Given the description of an element on the screen output the (x, y) to click on. 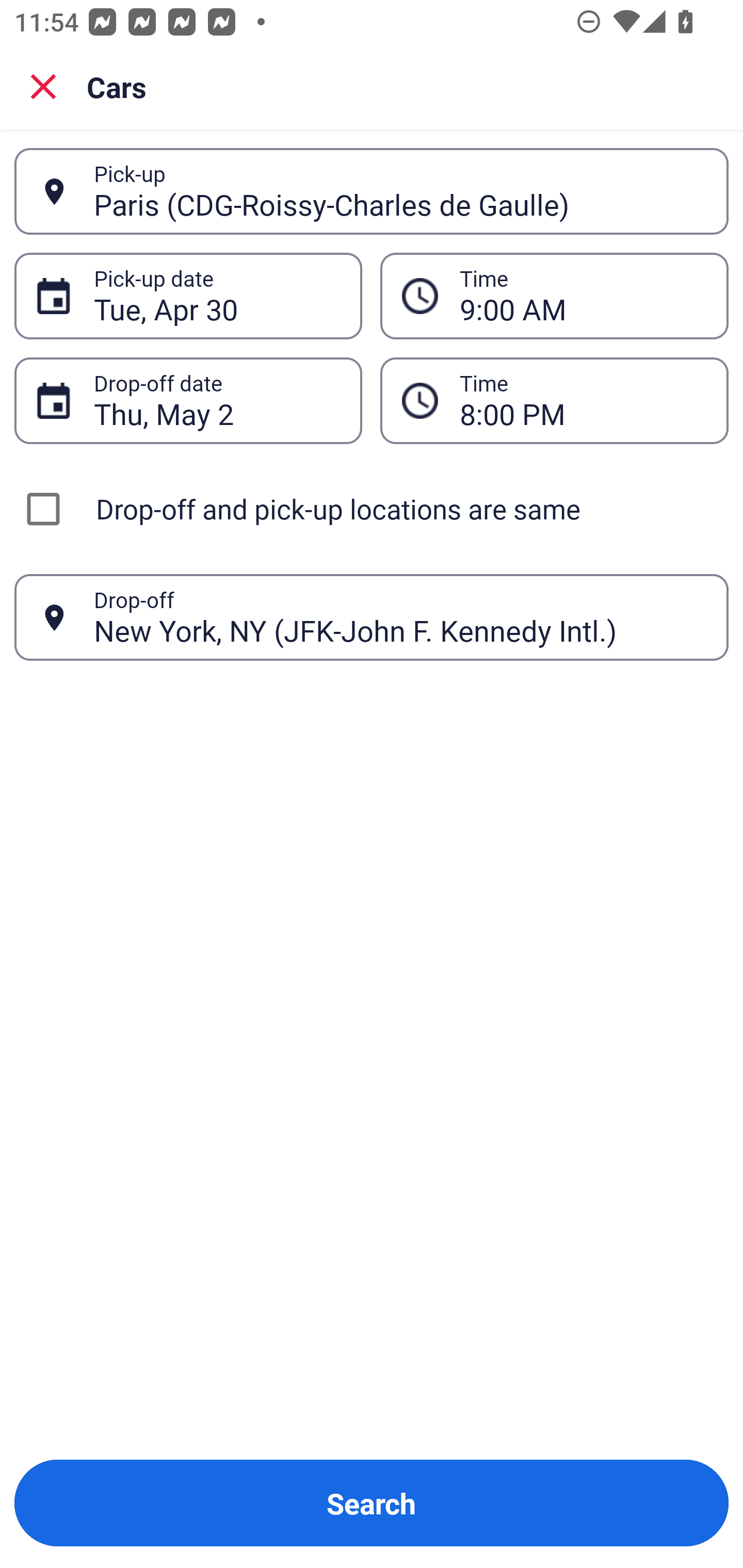
Close search screen (43, 86)
Paris (CDG-Roissy-Charles de Gaulle) Pick-up (371, 191)
Paris (CDG-Roissy-Charles de Gaulle) (399, 191)
Tue, Apr 30 Pick-up date (188, 295)
9:00 AM (554, 295)
Tue, Apr 30 (216, 296)
9:00 AM (582, 296)
Thu, May 2 Drop-off date (188, 400)
8:00 PM (554, 400)
Thu, May 2 (216, 400)
8:00 PM (582, 400)
Drop-off and pick-up locations are same (371, 508)
New York, NY (JFK-John F. Kennedy Intl.) Drop-off (371, 616)
New York, NY (JFK-John F. Kennedy Intl.) (399, 616)
Search Button Search (371, 1502)
